Given the description of an element on the screen output the (x, y) to click on. 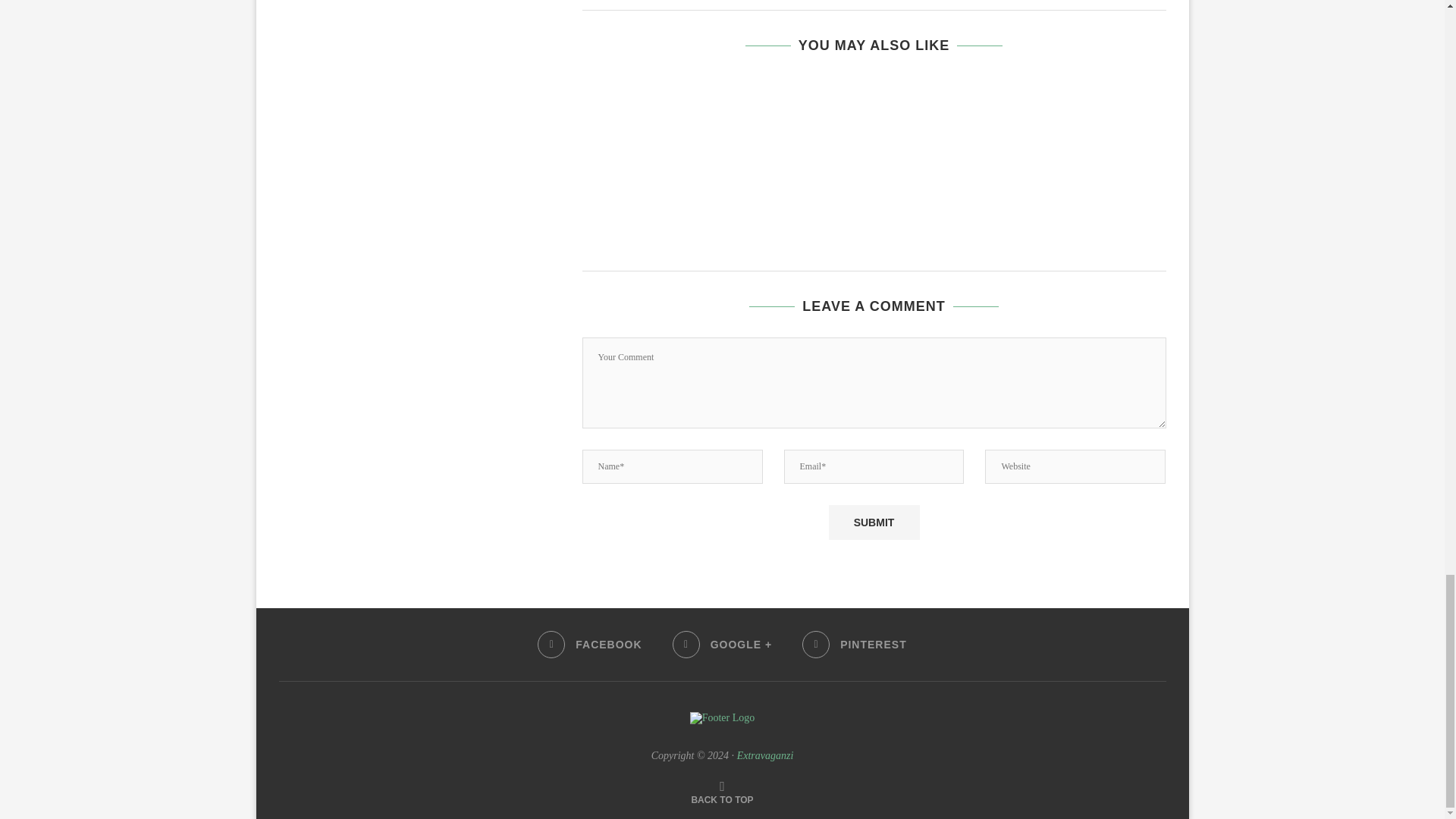
Submit (873, 522)
